Given the description of an element on the screen output the (x, y) to click on. 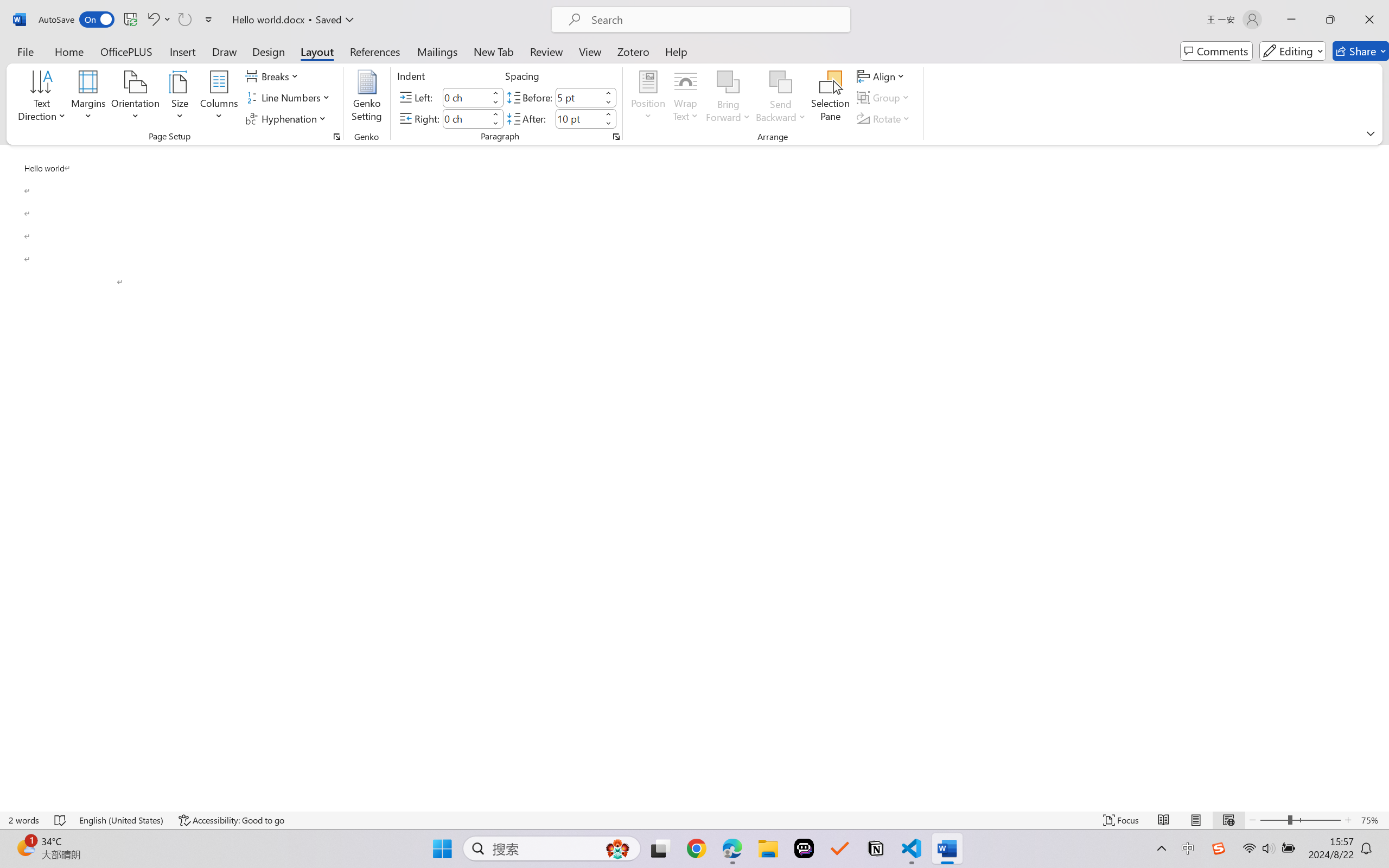
Undo Subscript (152, 19)
Repeat Subscript (184, 19)
Zoom (1300, 819)
Design (268, 51)
Help (675, 51)
Read Mode (1163, 819)
Zoom Out (1273, 819)
Quick Access Toolbar (127, 19)
More (608, 113)
Microsoft search (715, 19)
Orientation (135, 97)
Save (130, 19)
Bring Forward (728, 81)
Accessibility Checker Accessibility: Good to go (231, 819)
